Given the description of an element on the screen output the (x, y) to click on. 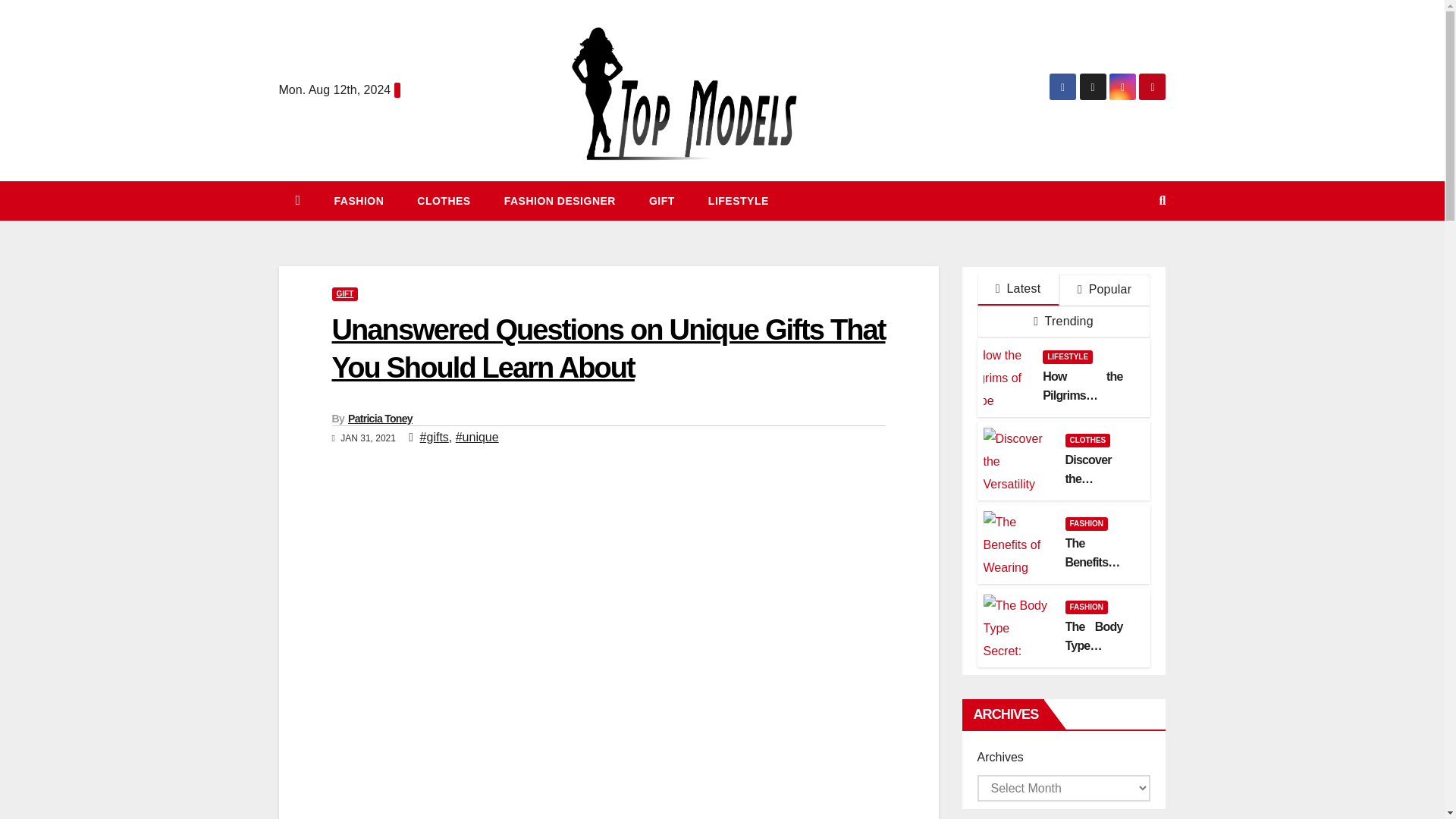
CLOTHES (443, 200)
Lifestyle (738, 200)
Clothes (443, 200)
Fashion Designer (559, 200)
Gift (661, 200)
GIFT (344, 294)
Fashion (359, 200)
LIFESTYLE (738, 200)
